Given the description of an element on the screen output the (x, y) to click on. 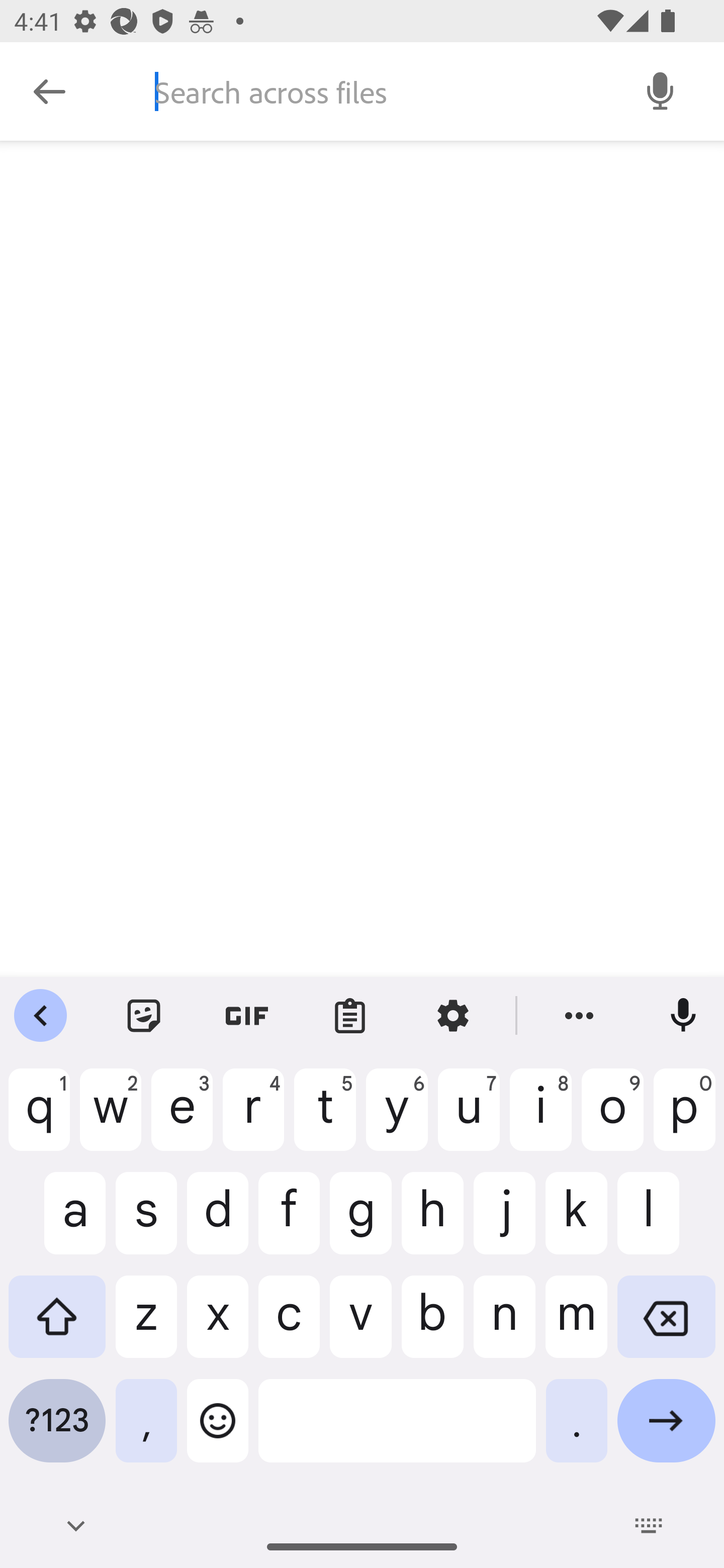
Navigate up (49, 91)
Voice search (660, 90)
Search across files (375, 91)
